Given the description of an element on the screen output the (x, y) to click on. 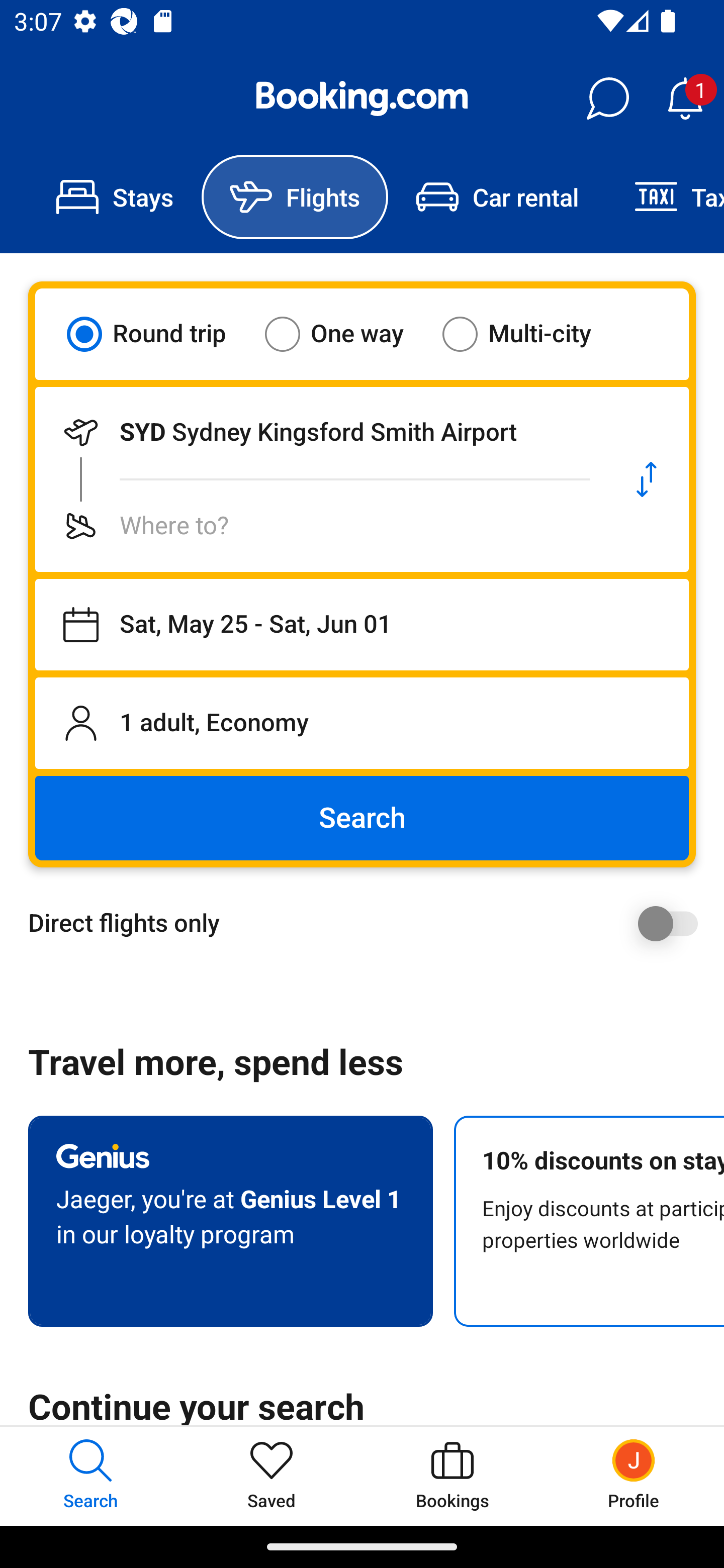
Messages (607, 98)
Notifications (685, 98)
Stays (114, 197)
Flights (294, 197)
Car rental (497, 197)
Taxi (665, 197)
One way (346, 333)
Multi-city (528, 333)
Departing from SYD Sydney Kingsford Smith Airport (319, 432)
Swap departure location and destination (646, 479)
Flying to  (319, 525)
Departing on Sat, May 25, returning on Sat, Jun 01 (361, 624)
1 adult, Economy (361, 722)
Search (361, 818)
Direct flights only (369, 923)
Saved (271, 1475)
Bookings (452, 1475)
Profile (633, 1475)
